Given the description of an element on the screen output the (x, y) to click on. 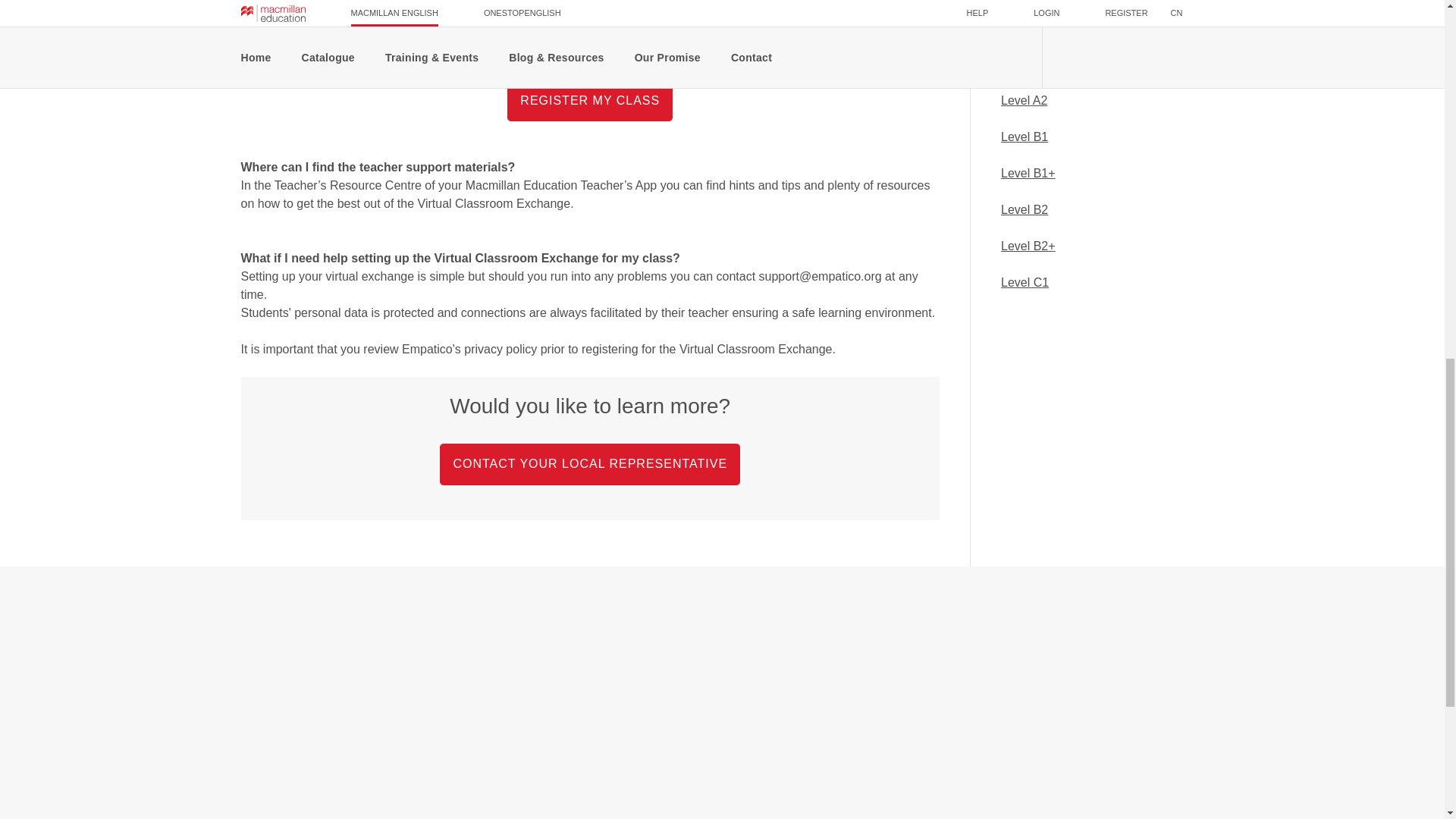
CONTACT YOUR LOCAL REPRESENTATIVE (589, 463)
Level A2 (1023, 100)
Level B2 (1024, 209)
REGISTER MY CLASS (589, 100)
Level B1 (1024, 136)
Level C1 (1024, 282)
